Given the description of an element on the screen output the (x, y) to click on. 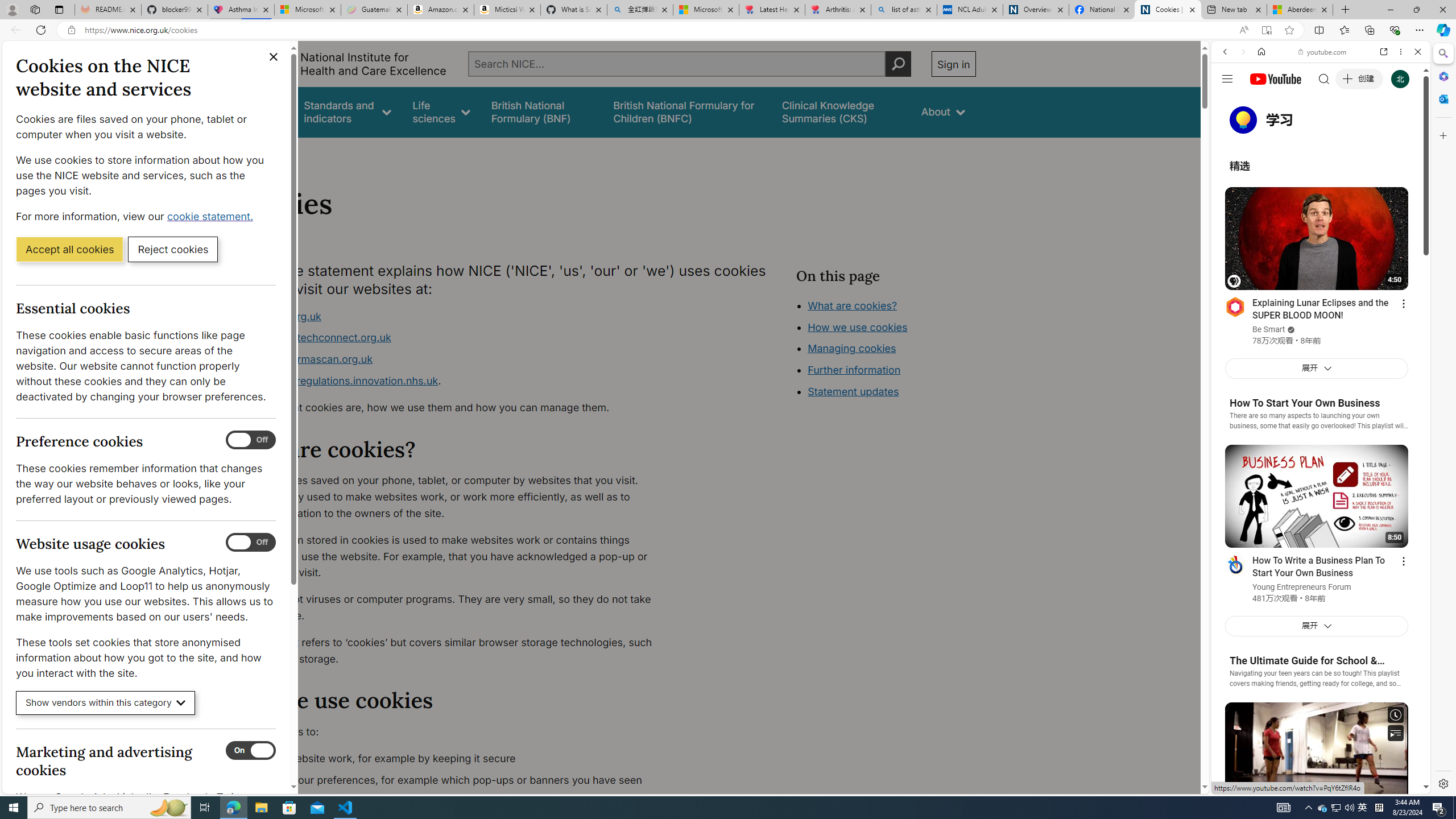
Aberdeen, Hong Kong SAR hourly forecast | Microsoft Weather (1300, 9)
